Given the description of an element on the screen output the (x, y) to click on. 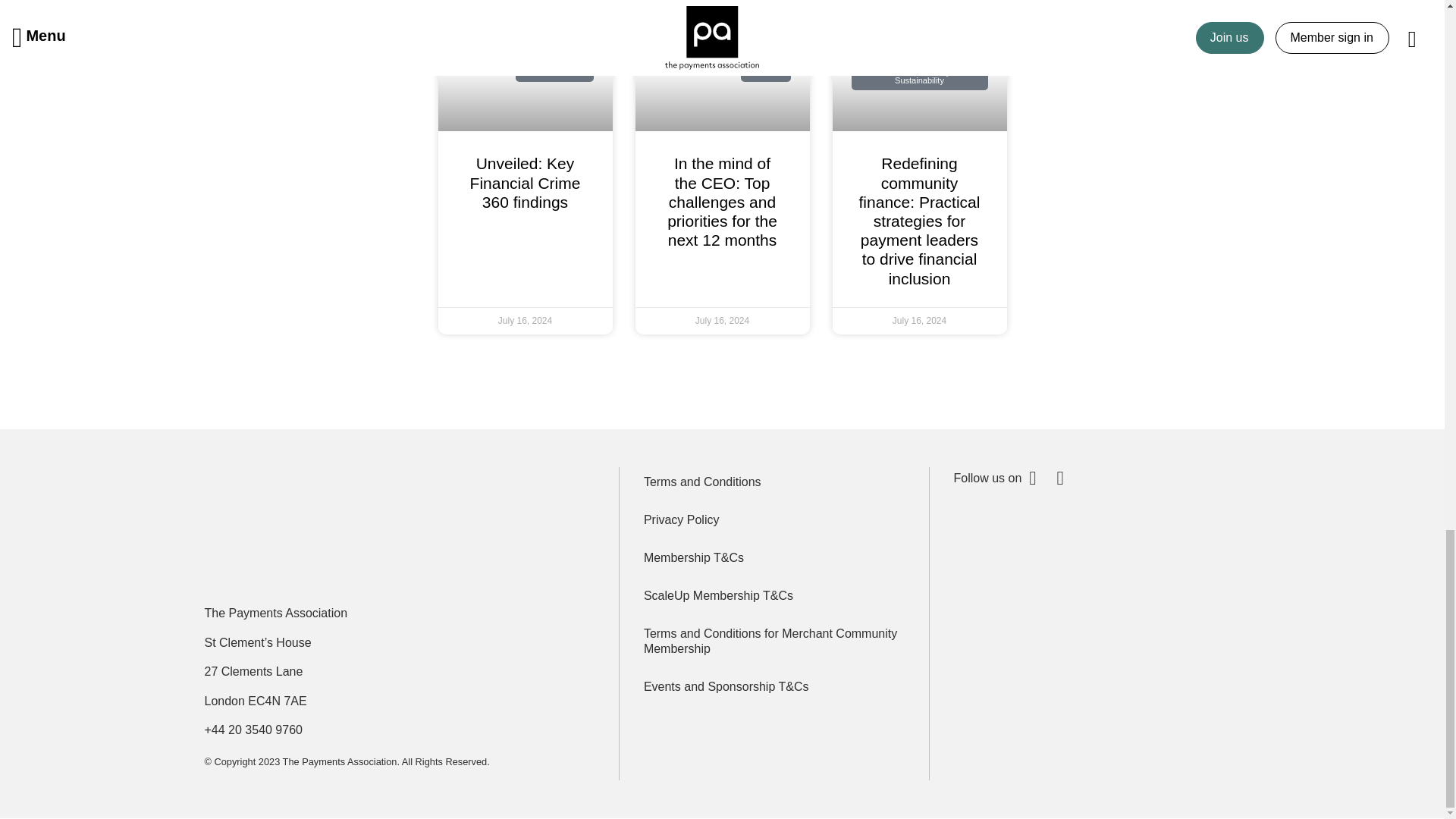
Privacy Policy (773, 520)
Terms and Conditions (773, 481)
Terms and Conditions for Merchant Community Membership (773, 641)
Unveiled: Key Financial Crime 360 findings (525, 181)
